Given the description of an element on the screen output the (x, y) to click on. 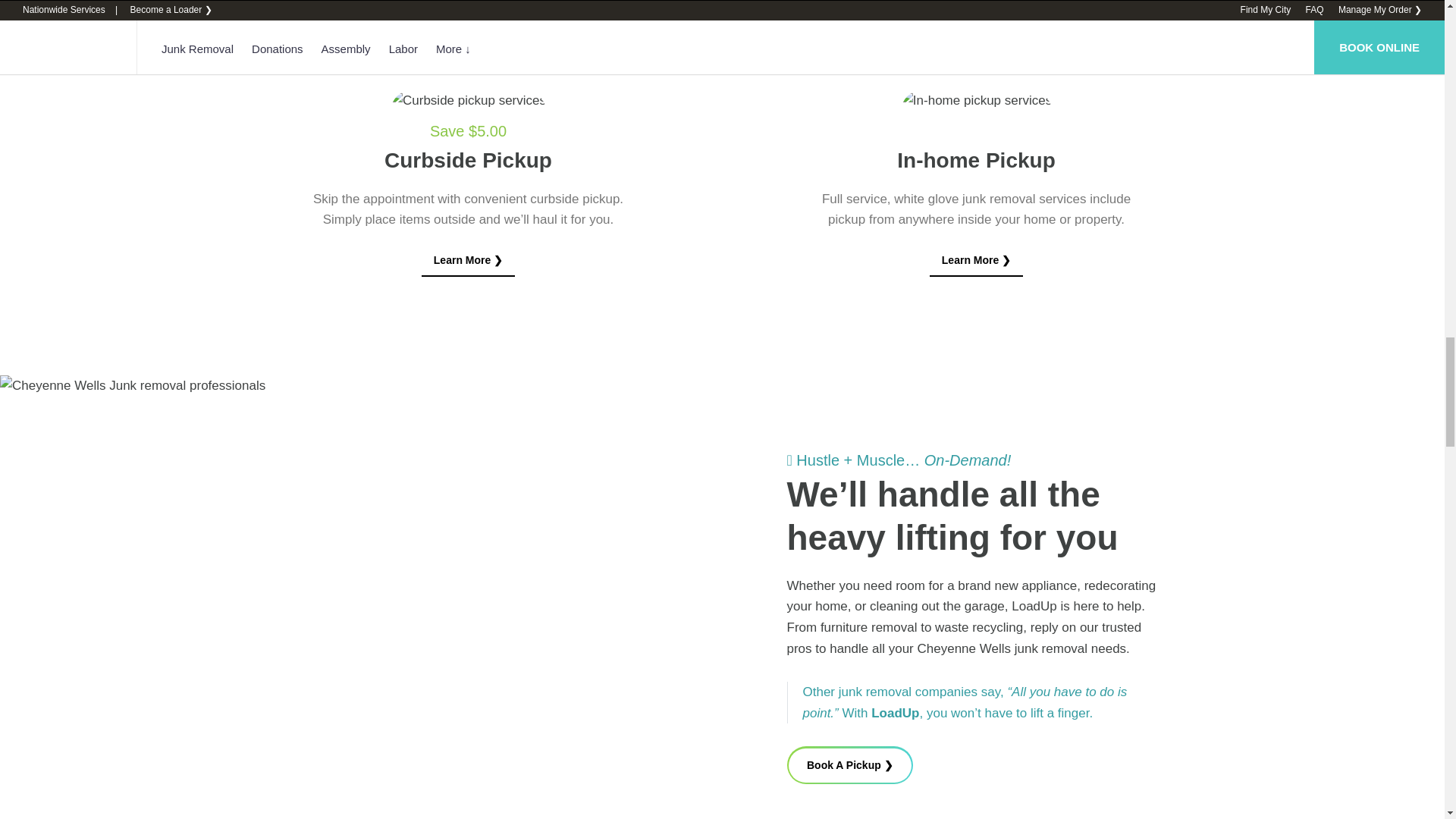
Learn more about our curbside pickup services (468, 260)
Learn more about our in-home junk pickup services (976, 260)
Book junk removal online (850, 764)
